Given the description of an element on the screen output the (x, y) to click on. 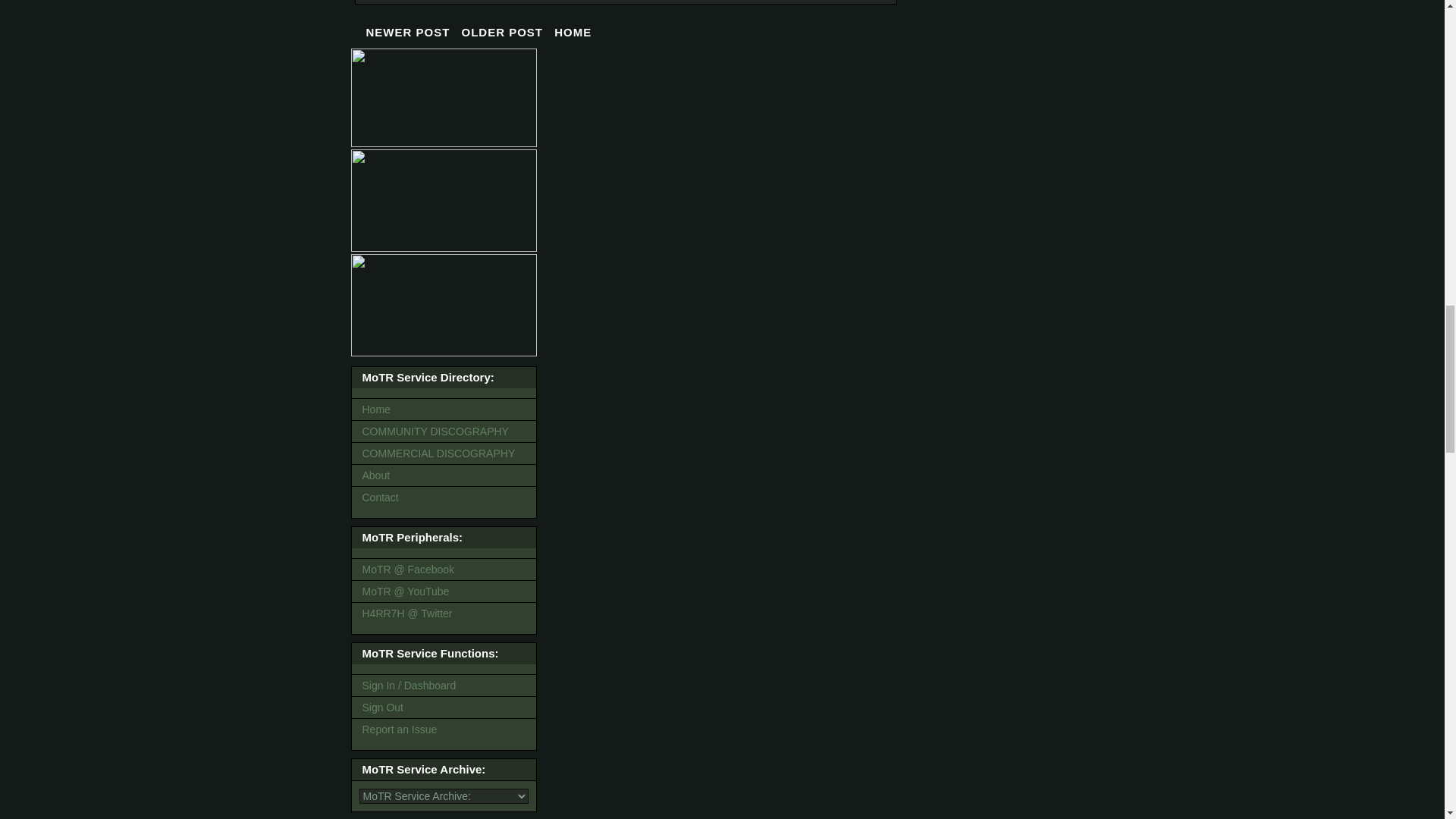
OLDER POST (502, 32)
Home (443, 409)
Older Post (502, 32)
About (443, 475)
Contact (443, 496)
COMMUNITY DISCOGRAPHY (443, 431)
Sign Out (443, 707)
NEWER POST (408, 32)
HOME (572, 32)
Newer Post (408, 32)
Report an Issue (443, 729)
COMMERCIAL DISCOGRAPHY (443, 453)
